Given the description of an element on the screen output the (x, y) to click on. 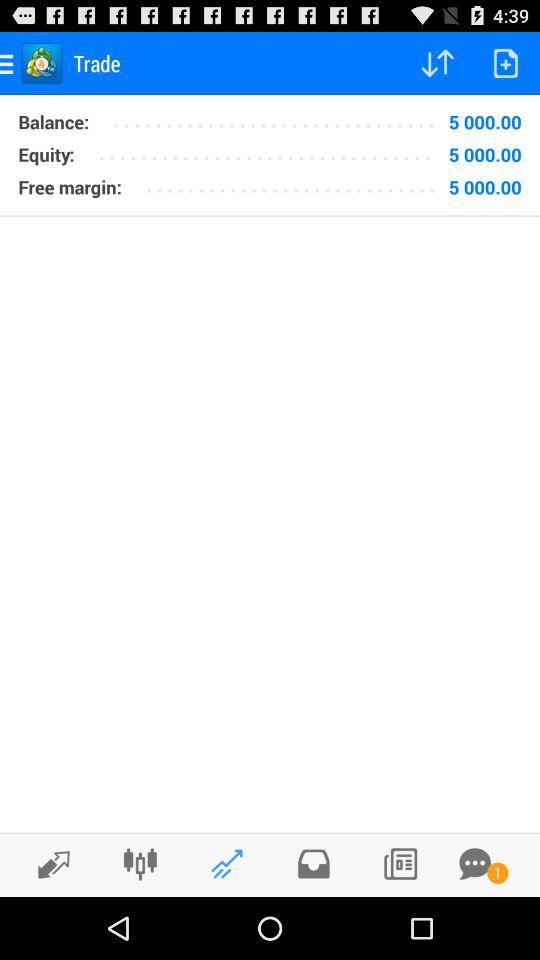
news (400, 863)
